Given the description of an element on the screen output the (x, y) to click on. 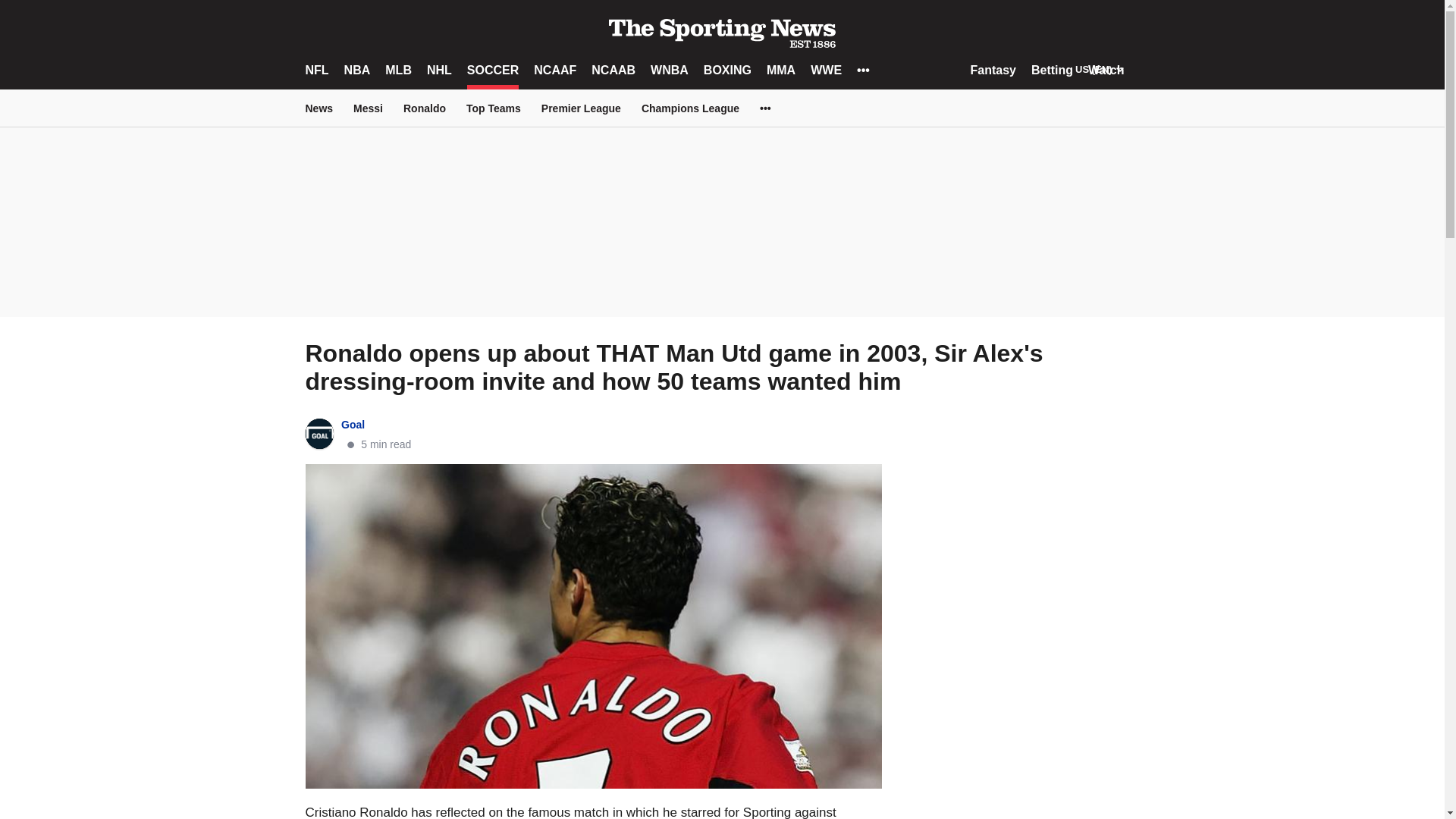
BOXING (727, 70)
WNBA (669, 70)
NCAAB (612, 70)
SOCCER (492, 70)
NCAAF (555, 70)
